Given the description of an element on the screen output the (x, y) to click on. 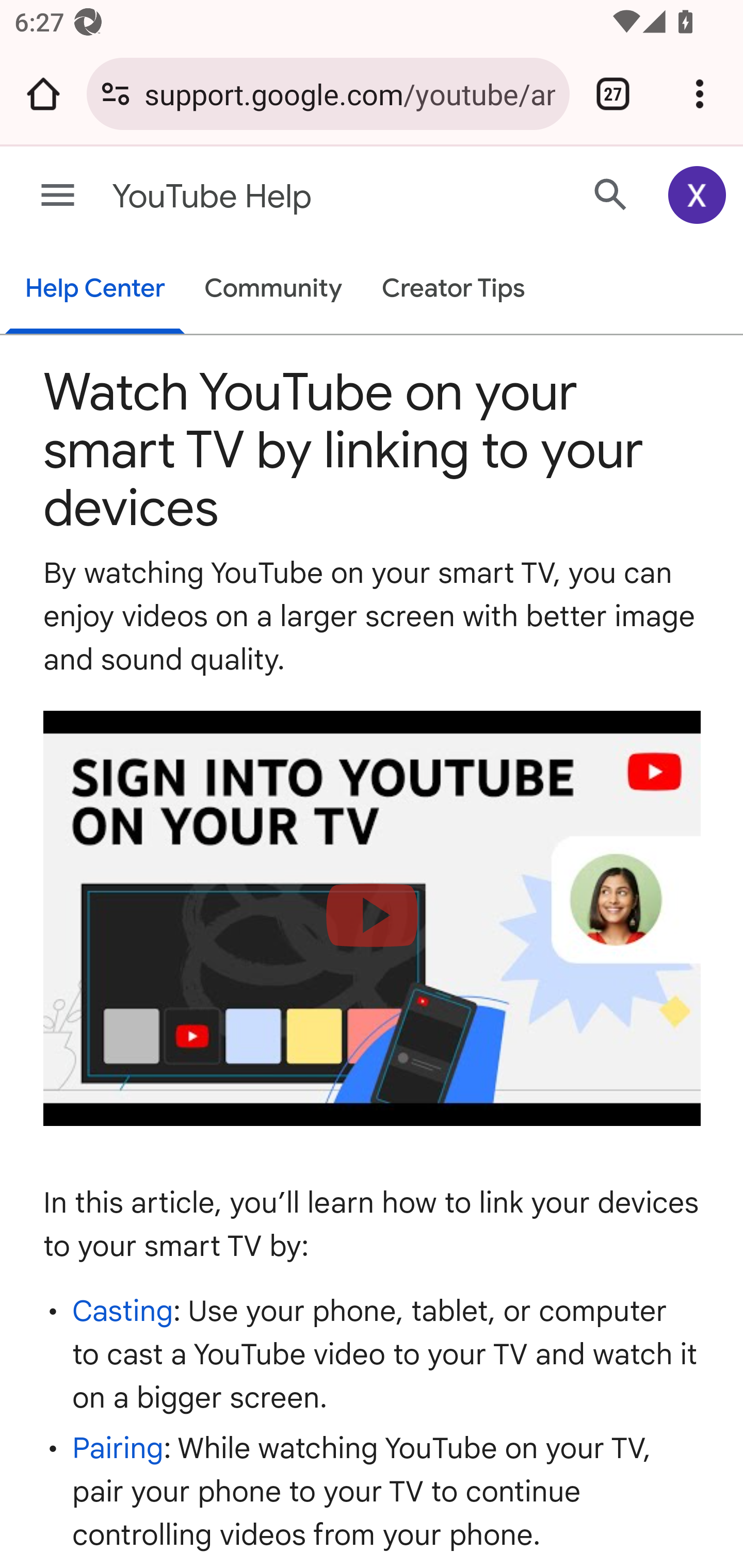
Open the home page (43, 93)
Connection is secure (115, 93)
Switch or close tabs (612, 93)
Customize and control Google Chrome (699, 93)
support.google.com/youtube/answer/7640706?hl=%@ (349, 92)
Main menu (58, 195)
YouTube Help (292, 197)
Search Help Center (611, 194)
Google Account: Xiaoran (zxrappiumtest@gmail.com) (697, 195)
Help Center (94, 289)
Community (273, 289)
Creator Tips (453, 289)
Load video (372, 918)
Casting (123, 1310)
Pairing (118, 1448)
